Given the description of an element on the screen output the (x, y) to click on. 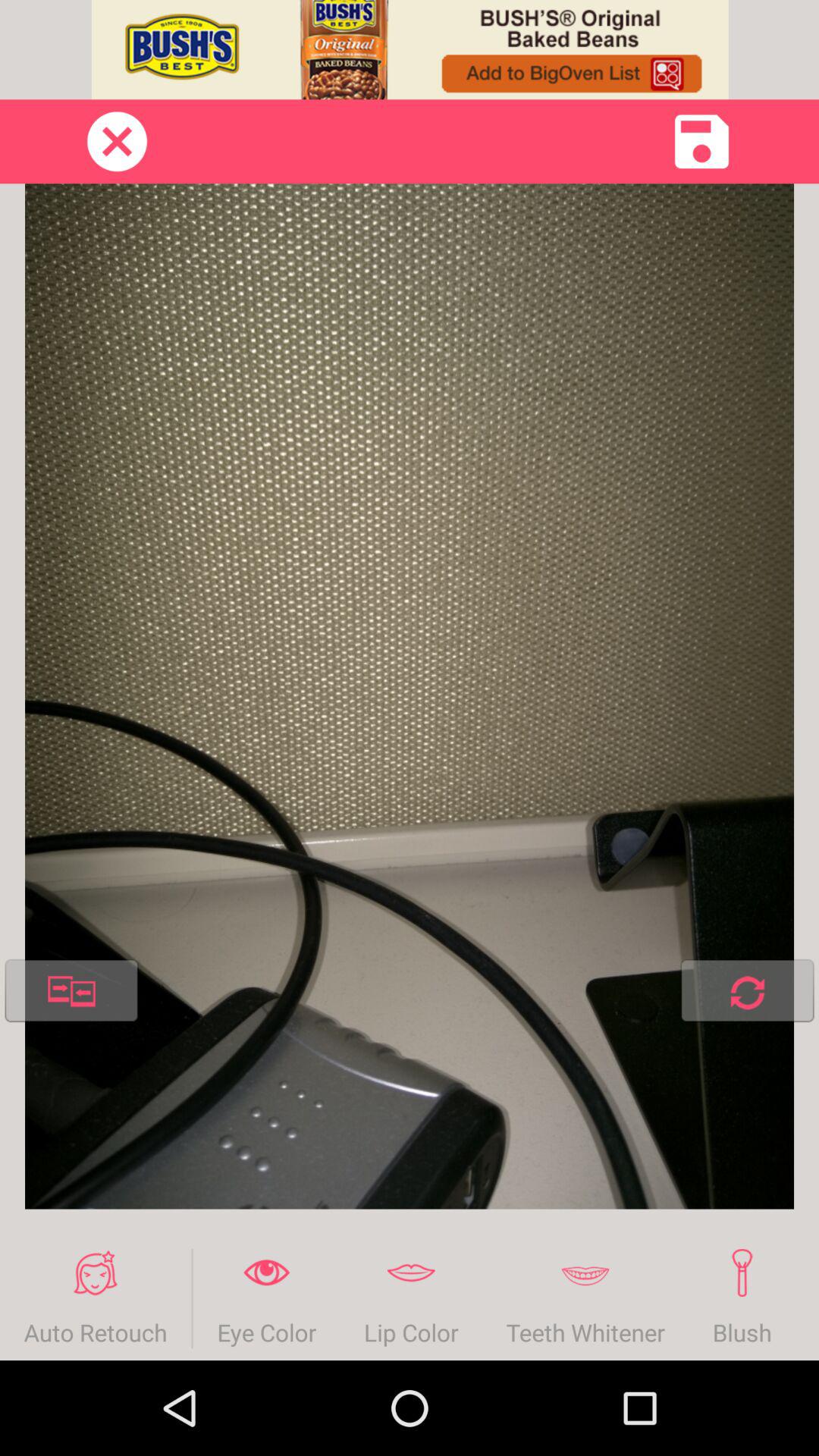
turn on the icon next to teeth whitener icon (411, 1298)
